Given the description of an element on the screen output the (x, y) to click on. 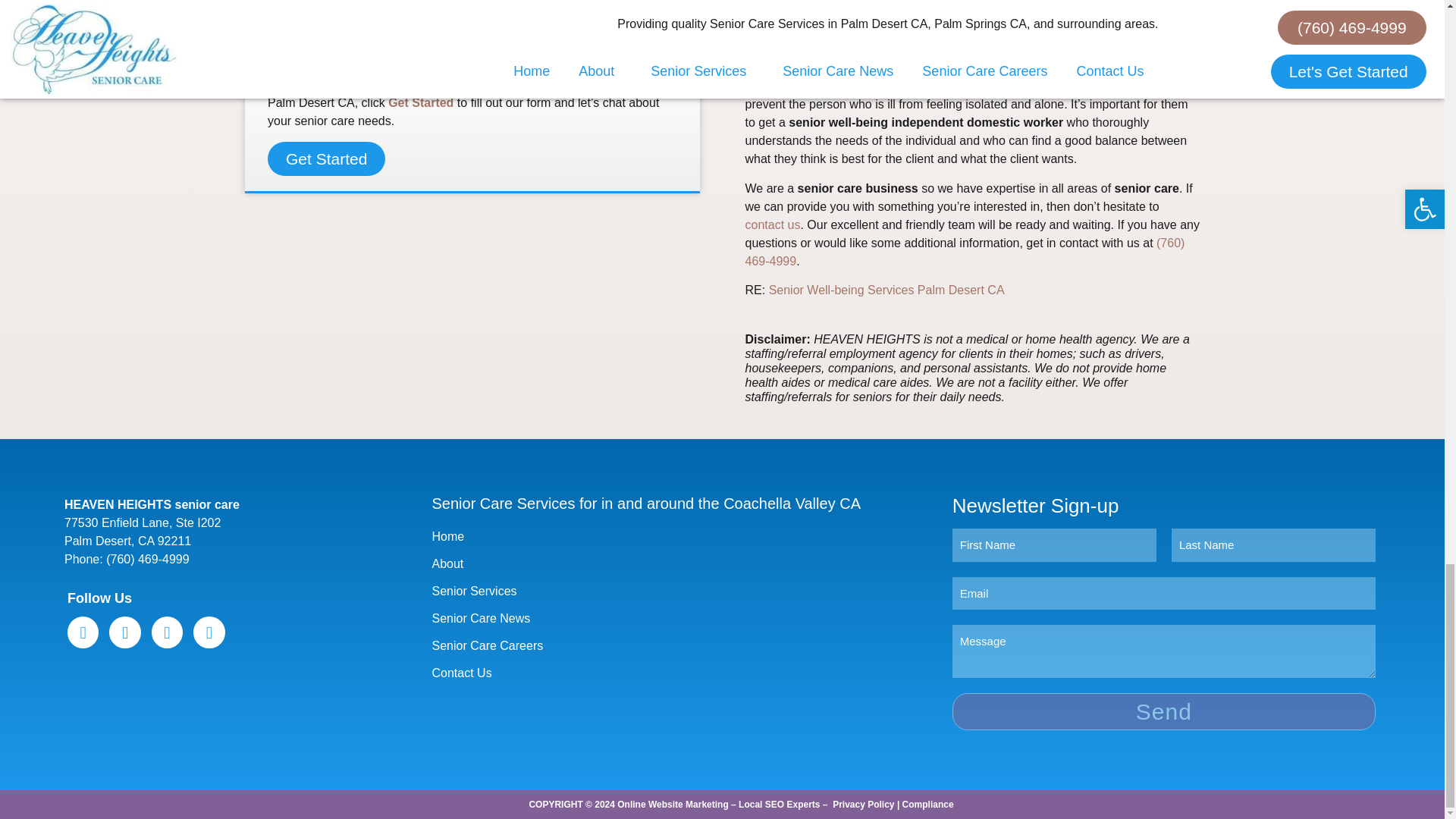
Home Health Care Services Carlsbad CA (886, 289)
Compliance (927, 804)
Online Website Marketing - Local SEO Experts (718, 804)
Privacy Policy (862, 804)
